Given the description of an element on the screen output the (x, y) to click on. 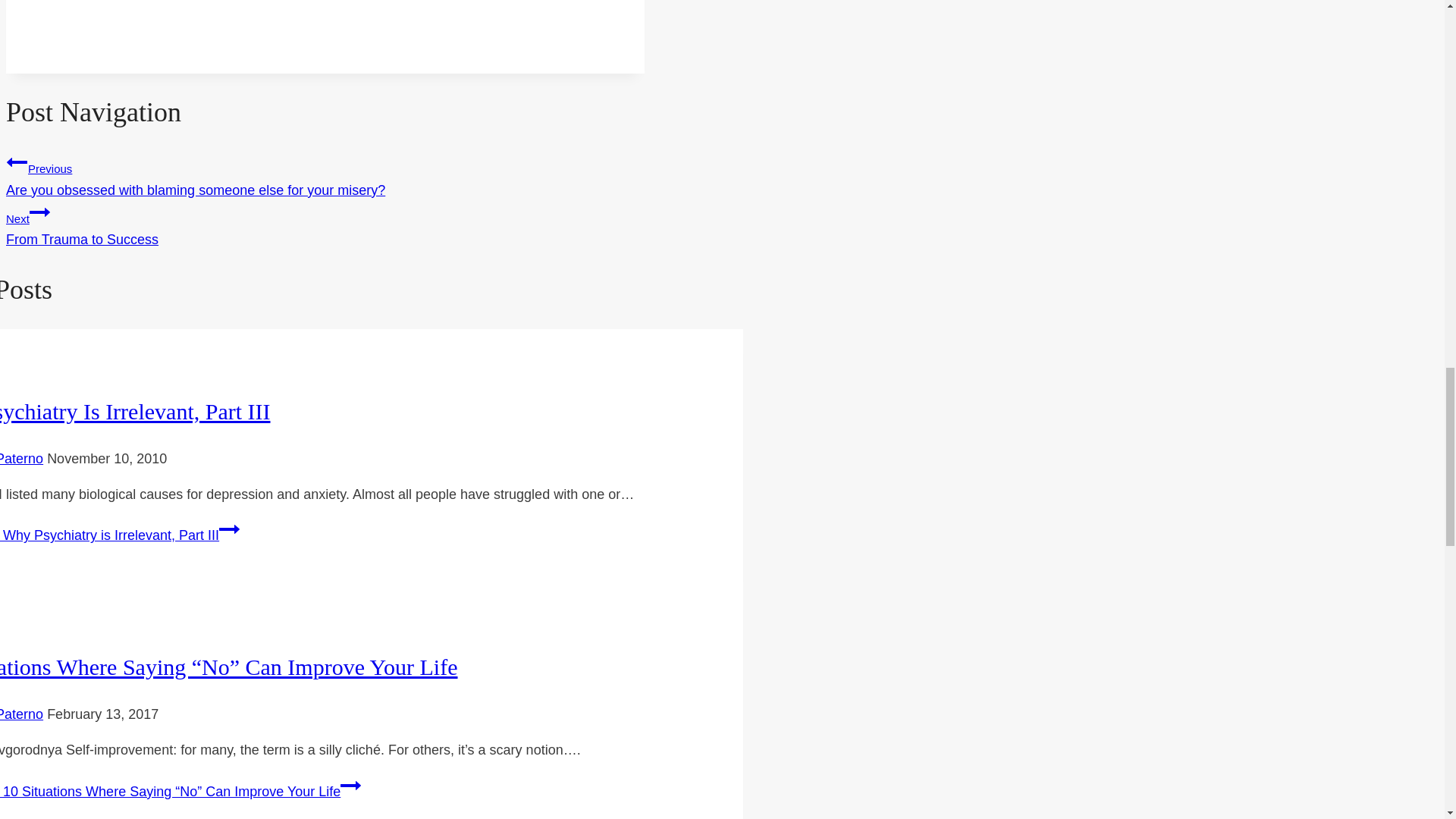
Continue (229, 528)
Dathan Paterno (21, 458)
Dathan Paterno (21, 713)
Why Psychiatry Is Irrelevant, Part III (135, 411)
Previous (16, 161)
Continue (325, 224)
Read More Why Psychiatry is Irrelevant, Part IIIContinue (350, 785)
Continue (120, 534)
